Given the description of an element on the screen output the (x, y) to click on. 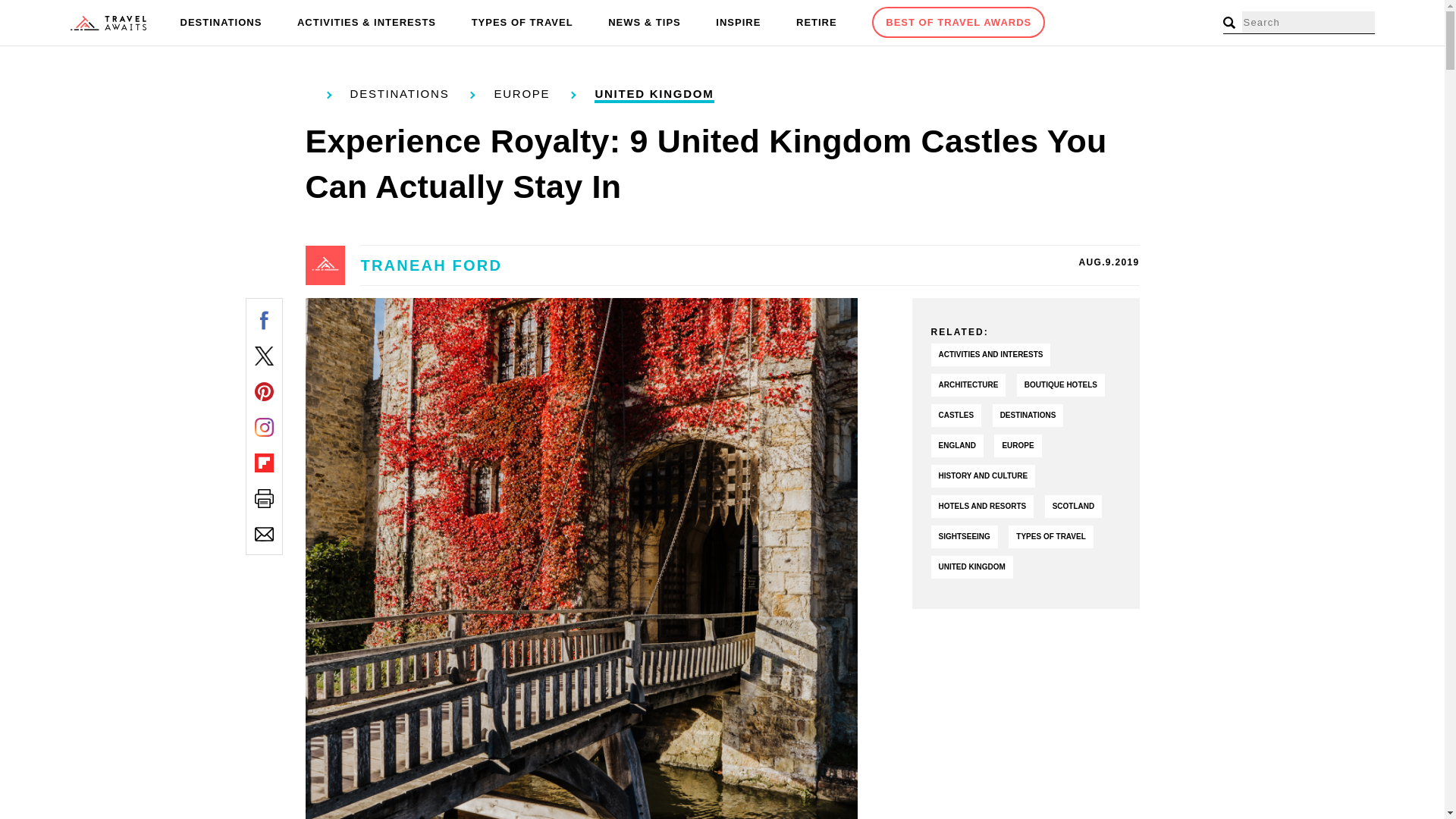
Pinterest (263, 391)
TravelAwaits (107, 22)
Print (263, 497)
Flipboard (263, 462)
TYPES OF TRAVEL (522, 22)
Instagram (263, 426)
Facebook (263, 320)
Email (263, 533)
Twitter (263, 355)
DESTINATIONS (221, 22)
